Given the description of an element on the screen output the (x, y) to click on. 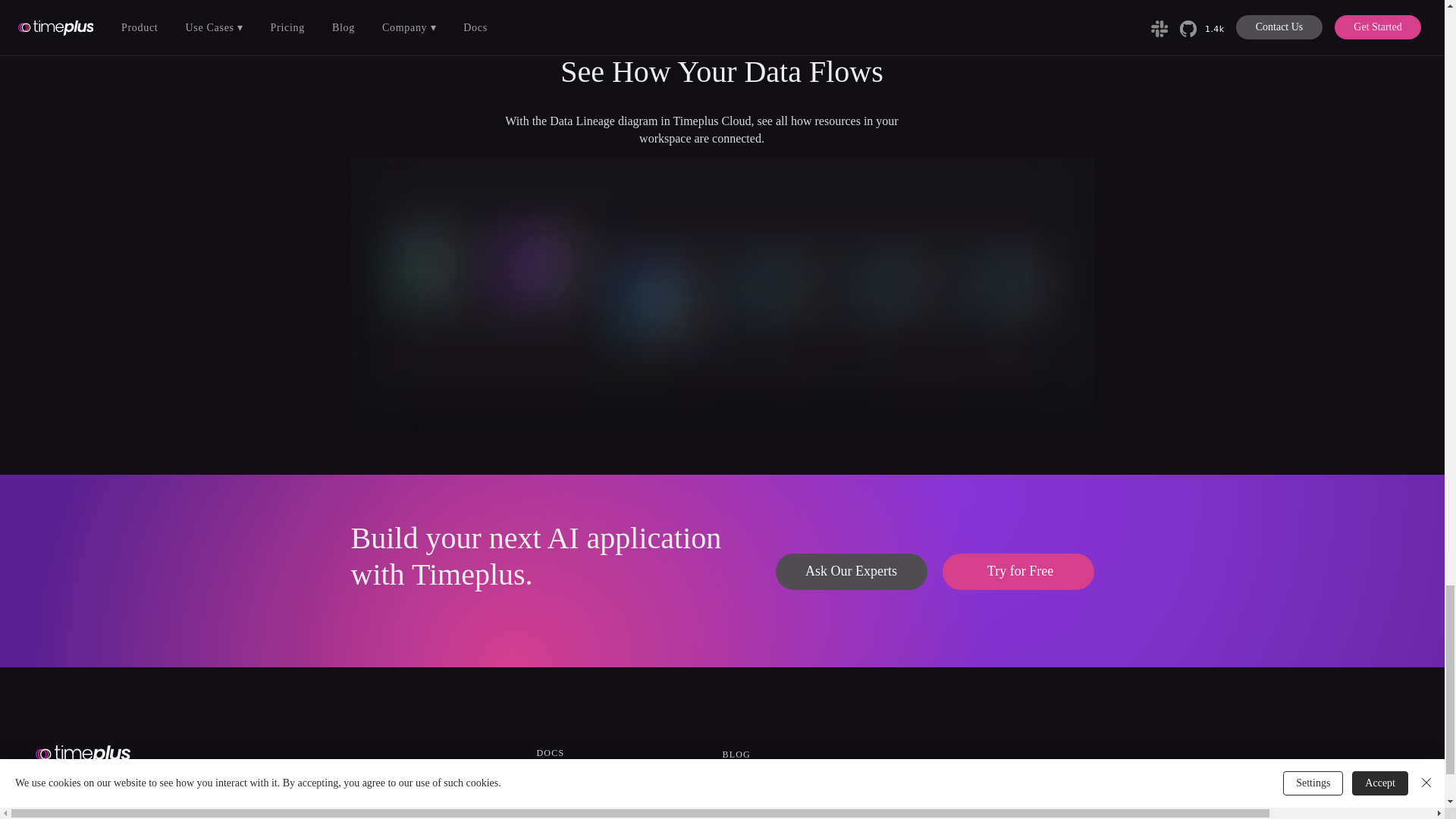
SHOWCASES (568, 768)
Try for Free (1017, 571)
PRICING (558, 801)
TIMEPLUS VS. KSQLDB (595, 785)
Ask Our Experts (850, 571)
DOCS (550, 752)
